Given the description of an element on the screen output the (x, y) to click on. 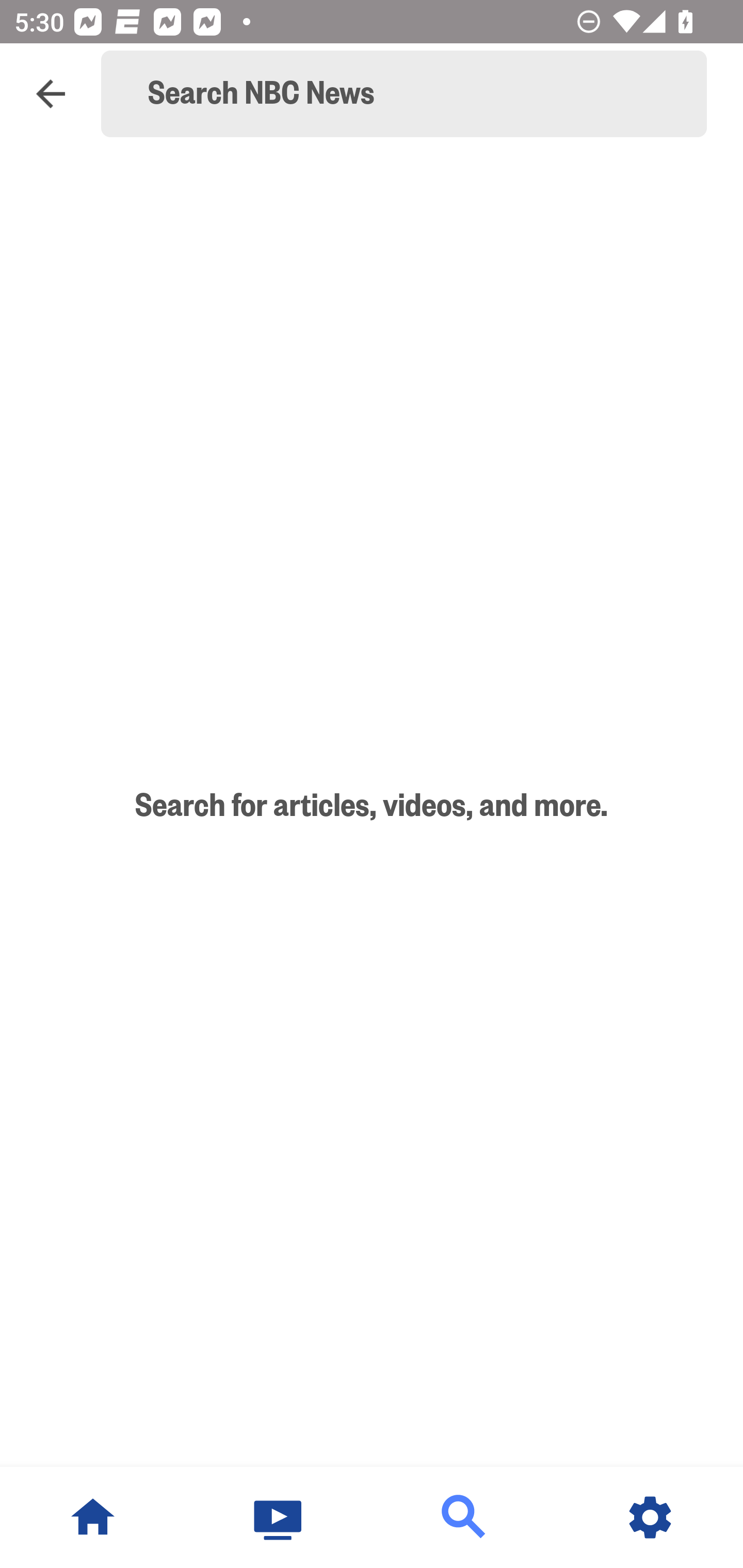
Navigate up (50, 93)
Search NBC News (412, 94)
NBC News Home (92, 1517)
Watch (278, 1517)
Settings (650, 1517)
